Given the description of an element on the screen output the (x, y) to click on. 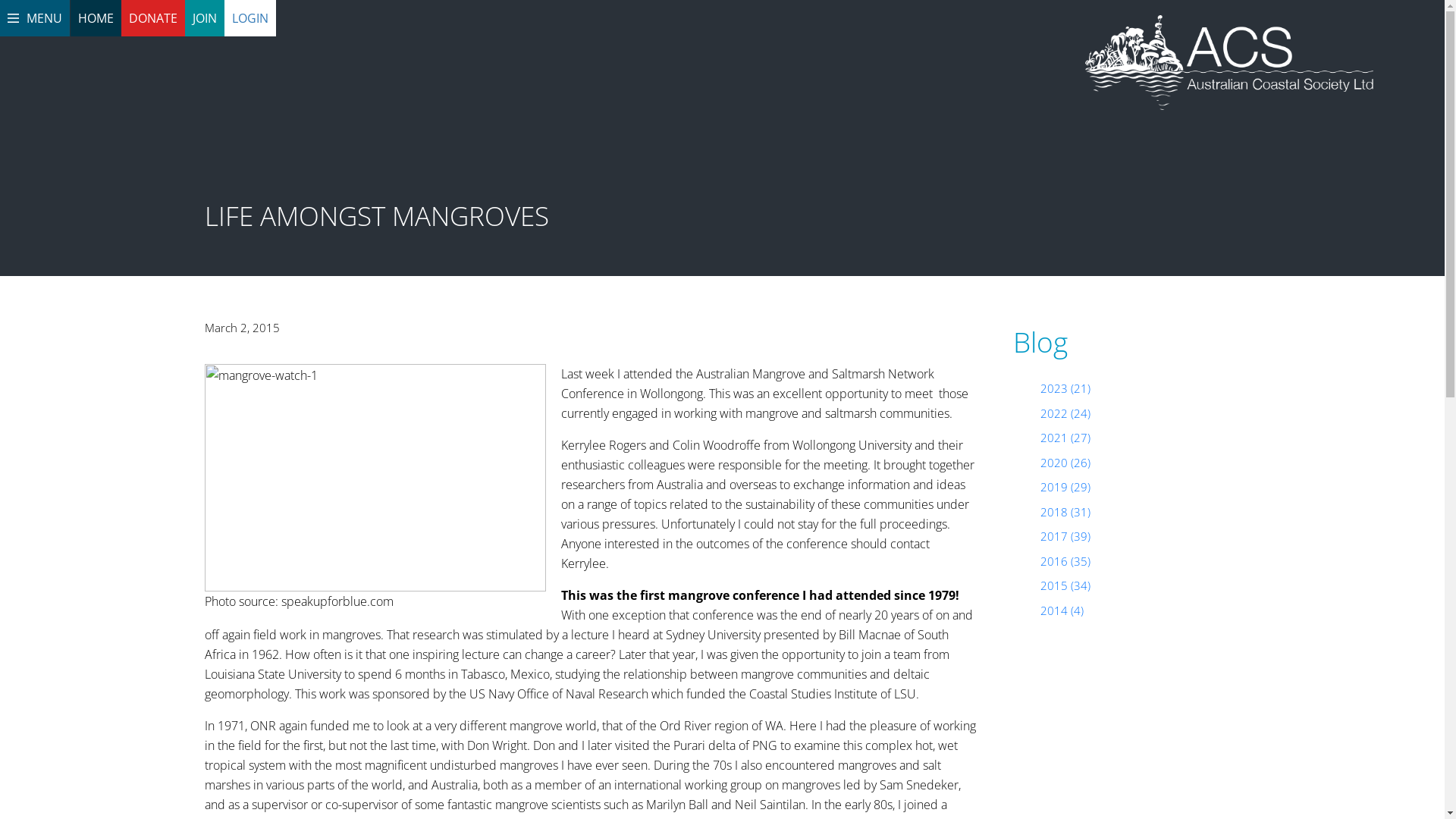
2021 (27) Element type: text (1065, 437)
2017 (39) Element type: text (1065, 535)
HOME Element type: text (95, 18)
LOGIN Element type: text (250, 18)
2020 (26) Element type: text (1065, 462)
2015 (34) Element type: text (1065, 585)
2016 (35) Element type: text (1065, 560)
2022 (24) Element type: text (1065, 412)
2023 (21) Element type: text (1065, 387)
2014 (4) Element type: text (1061, 610)
Skip to main content Element type: text (0, 0)
2018 (31) Element type: text (1065, 511)
MENU Element type: text (34, 18)
DONATE Element type: text (153, 18)
2019 (29) Element type: text (1065, 486)
mangrove-watch-1 Element type: hover (375, 477)
JOIN Element type: text (204, 18)
